Given the description of an element on the screen output the (x, y) to click on. 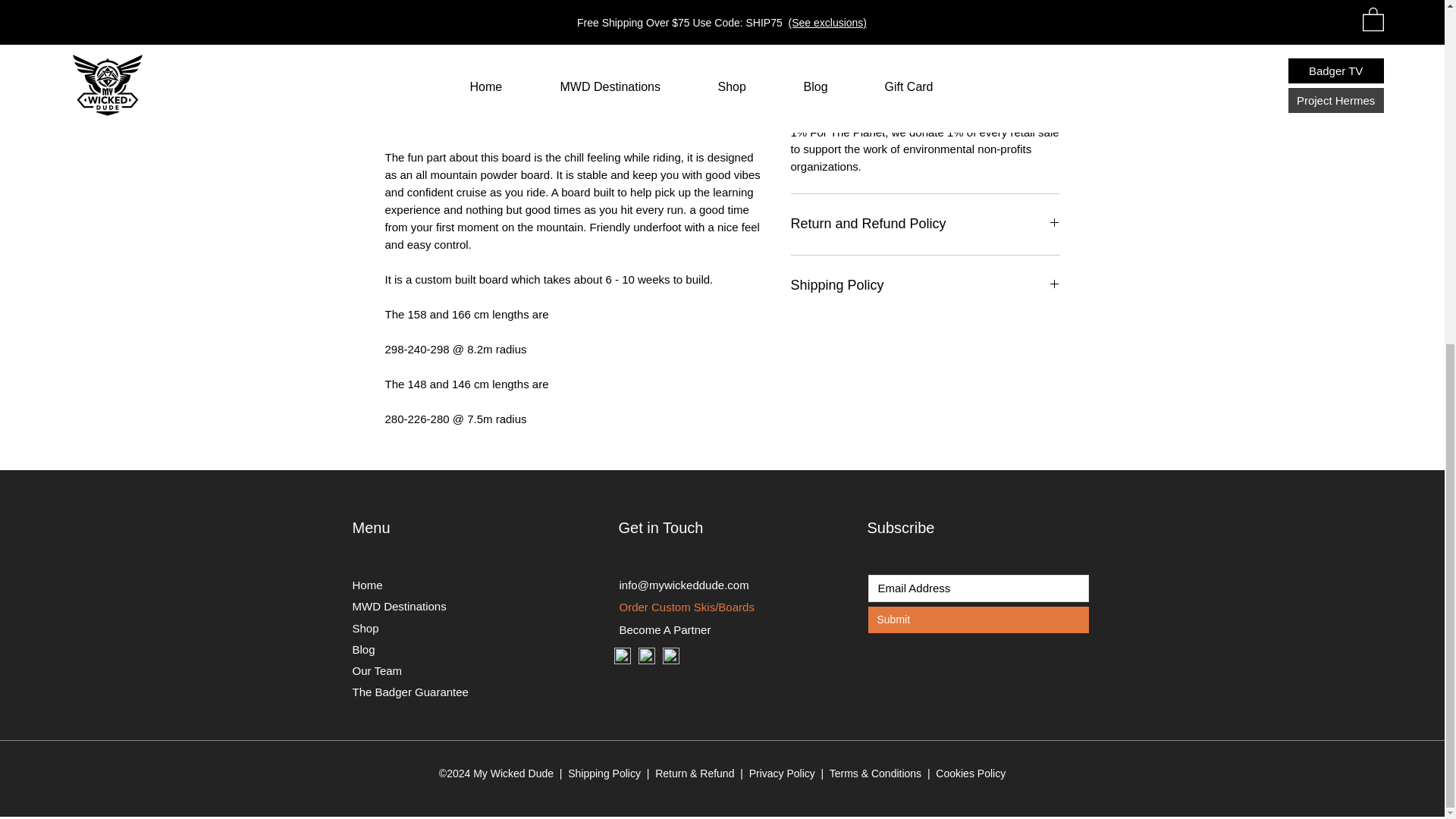
Commitment to the Environment (924, 30)
Return and Refund Policy (924, 224)
Shipping Policy (924, 285)
